Given the description of an element on the screen output the (x, y) to click on. 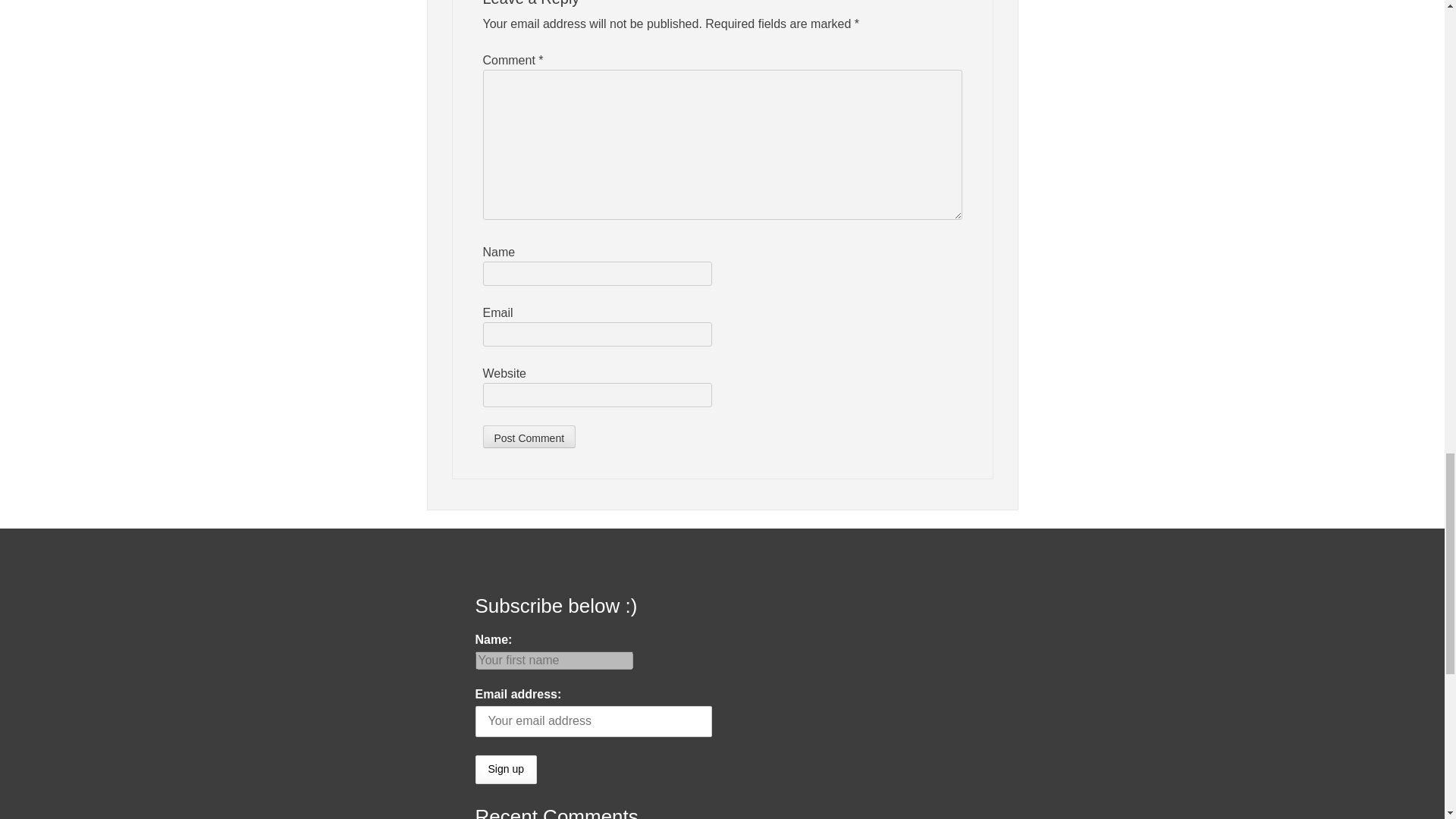
Post Comment (528, 436)
Sign up (504, 769)
Sign up (504, 769)
Post Comment (528, 436)
